Given the description of an element on the screen output the (x, y) to click on. 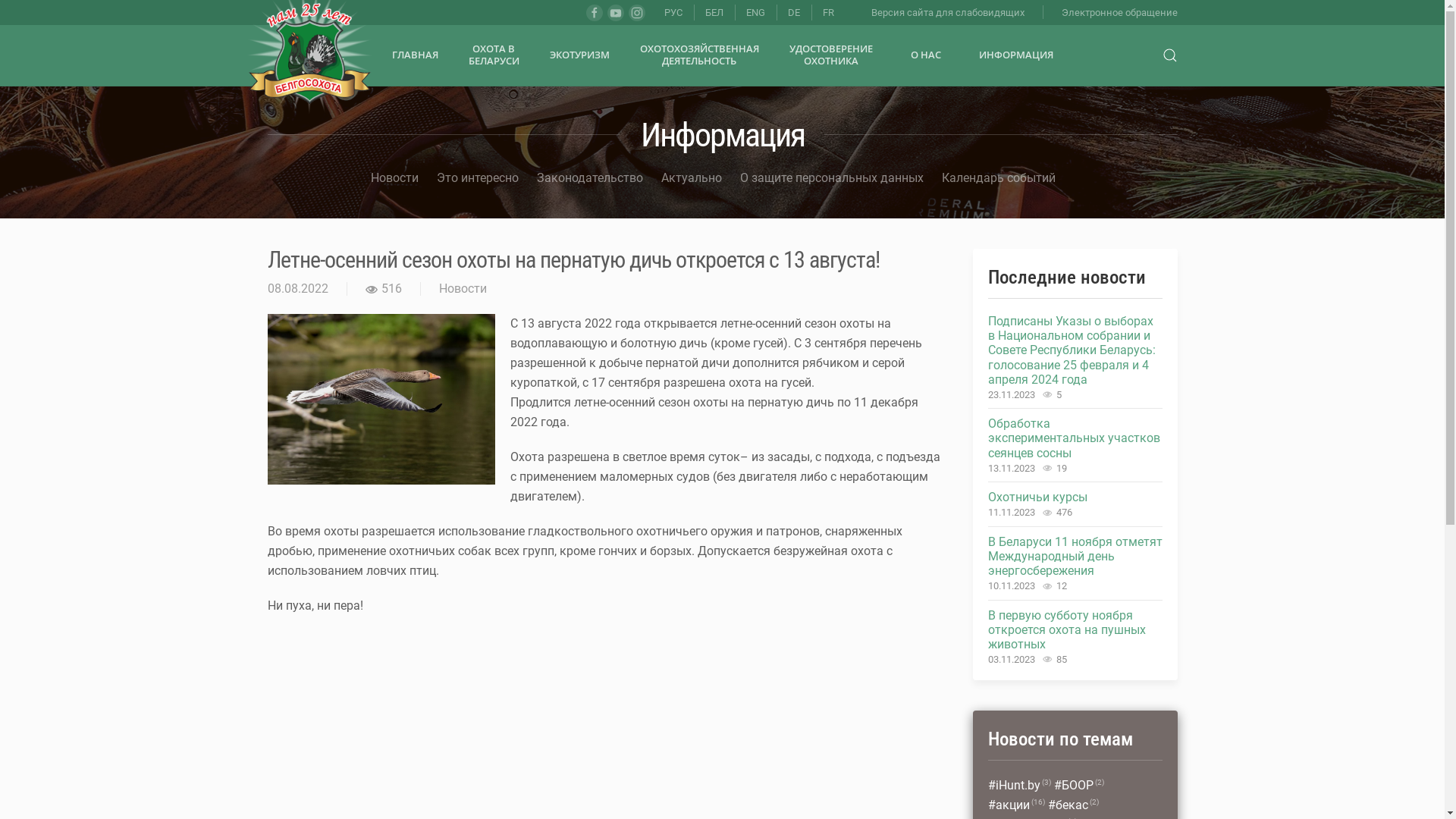
iHunt.by (3) Element type: text (1018, 785)
DE Element type: text (781, 12)
FR Element type: text (816, 12)
ENG Element type: text (744, 12)
